Given the description of an element on the screen output the (x, y) to click on. 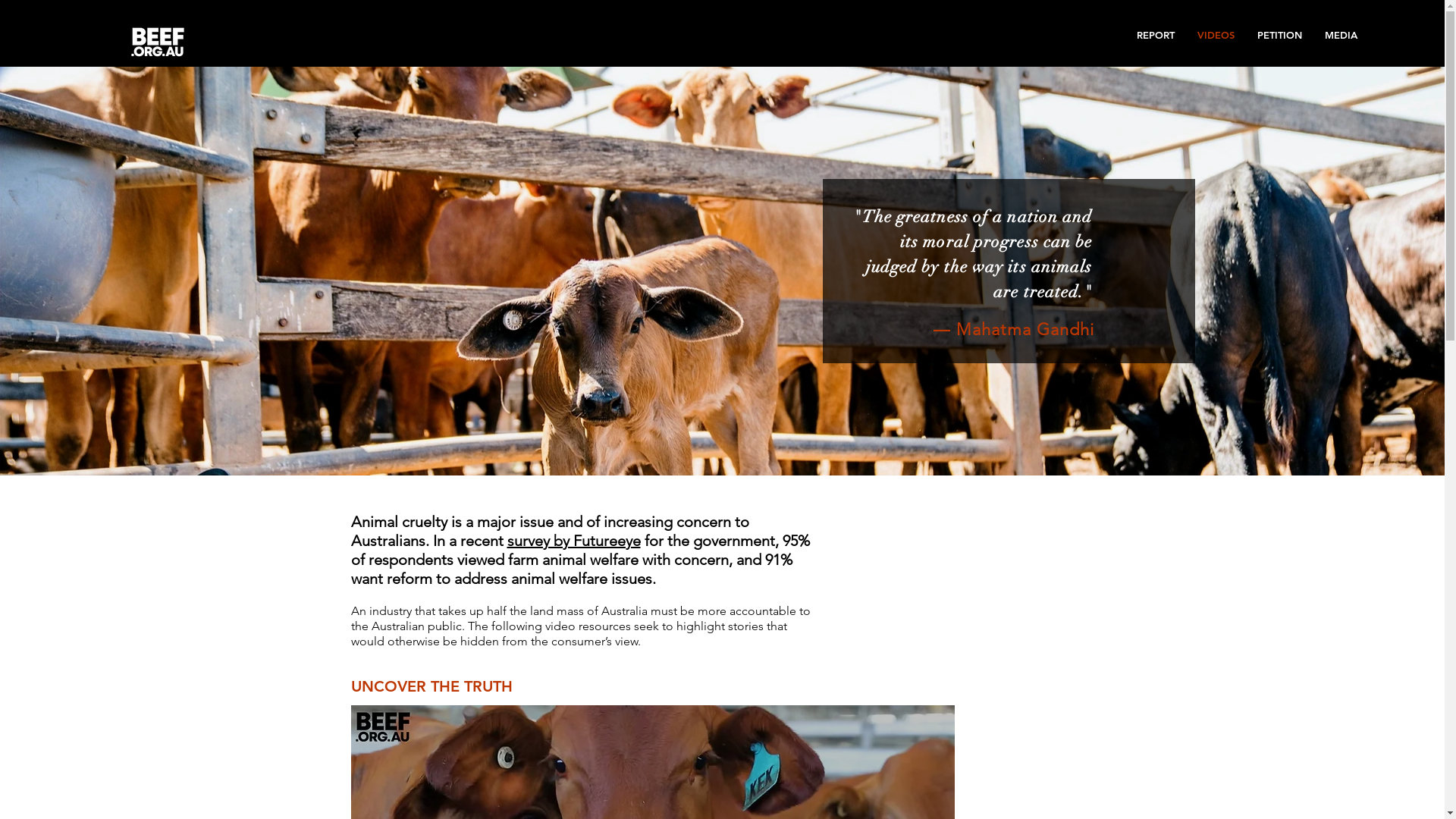
PETITION Element type: text (1279, 34)
REPORT Element type: text (1155, 34)
VIDEOS Element type: text (1215, 34)
MEDIA Element type: text (1340, 34)
survey by Futureeye Element type: text (573, 540)
